Given the description of an element on the screen output the (x, y) to click on. 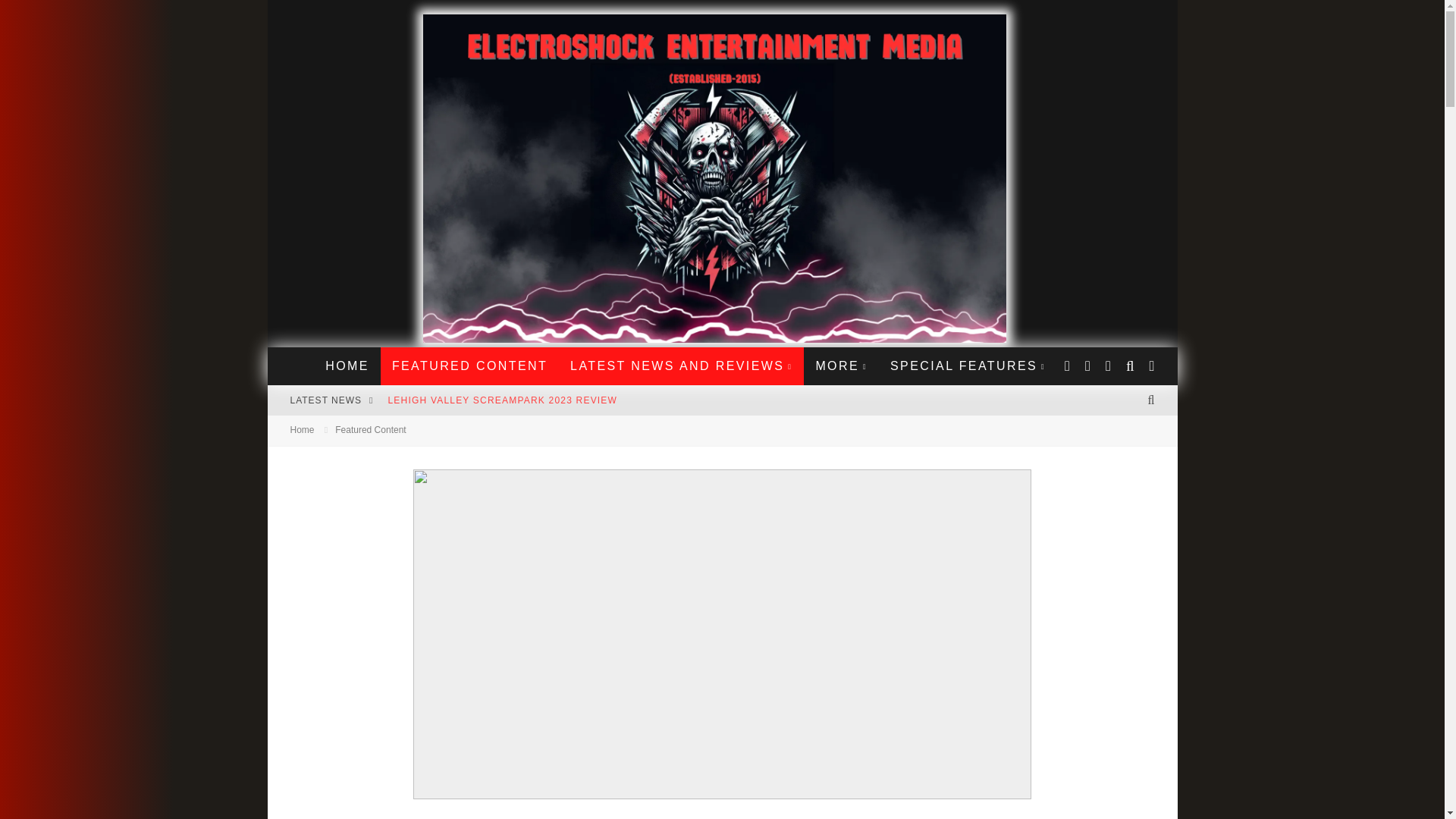
Lehigh Valley Screampark 2023 Review (502, 399)
LATEST NEWS AND REVIEWS (681, 365)
HOME (347, 365)
FEATURED CONTENT (469, 365)
